Given the description of an element on the screen output the (x, y) to click on. 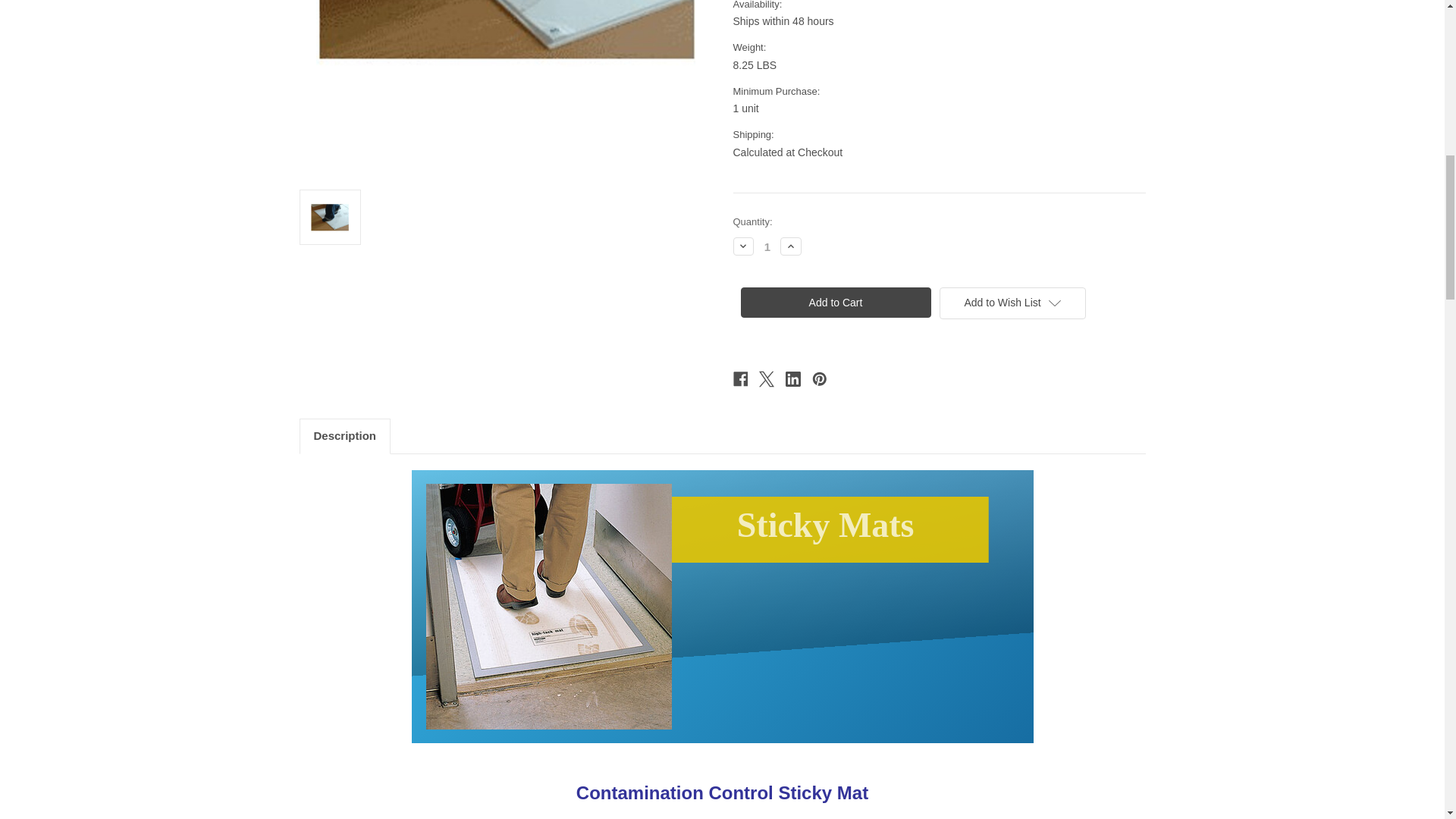
1 (767, 246)
Add to Cart (834, 302)
